Given the description of an element on the screen output the (x, y) to click on. 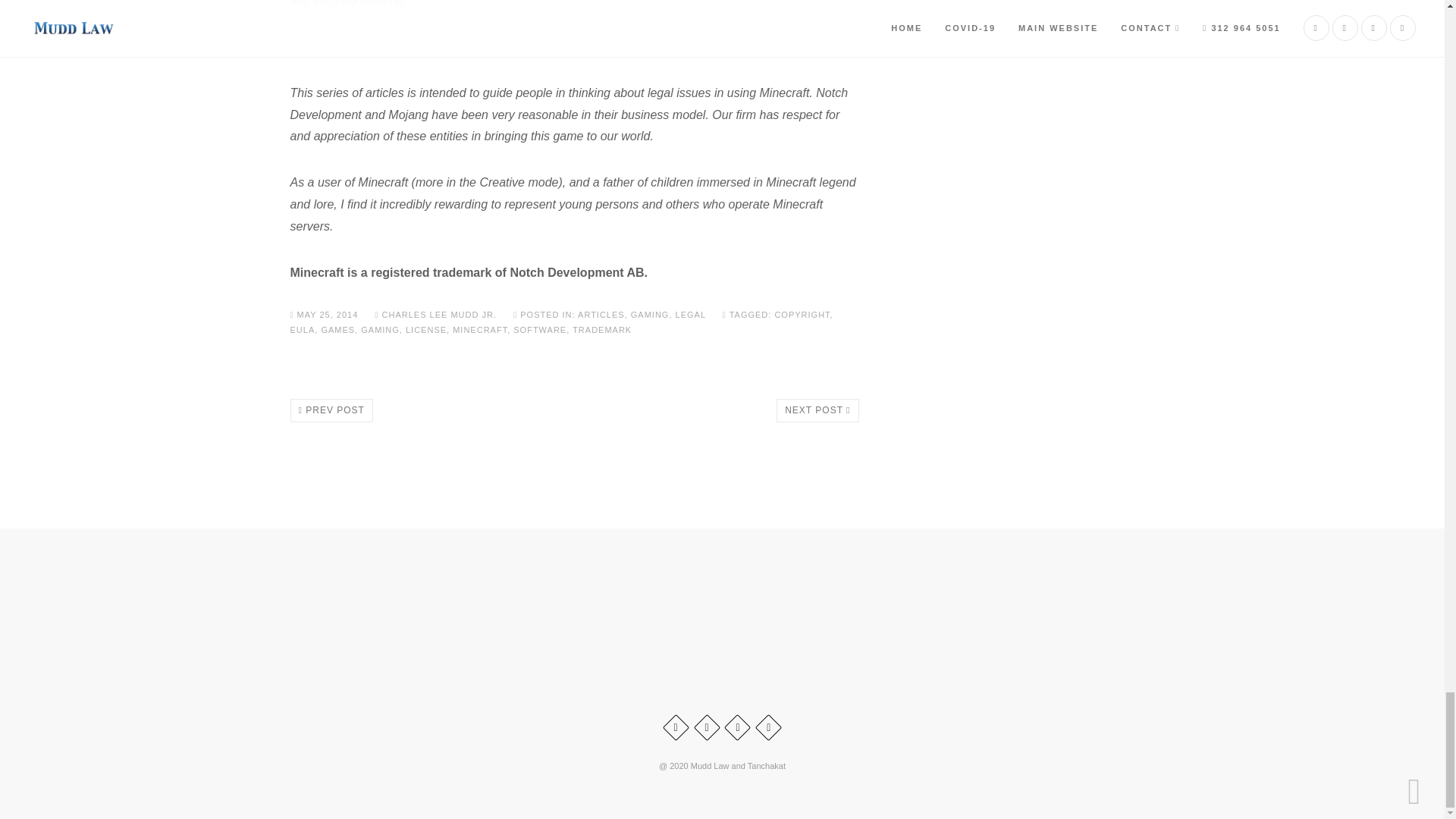
TRADEMARK (601, 329)
LEGAL (690, 314)
EULA (301, 329)
GAMES (337, 329)
SOFTWARE (539, 329)
MINECRAFT (479, 329)
 PREV POST (330, 410)
GAMING (649, 314)
COPYRIGHT (801, 314)
CHARLES LEE MUDD JR. (436, 314)
